Given the description of an element on the screen output the (x, y) to click on. 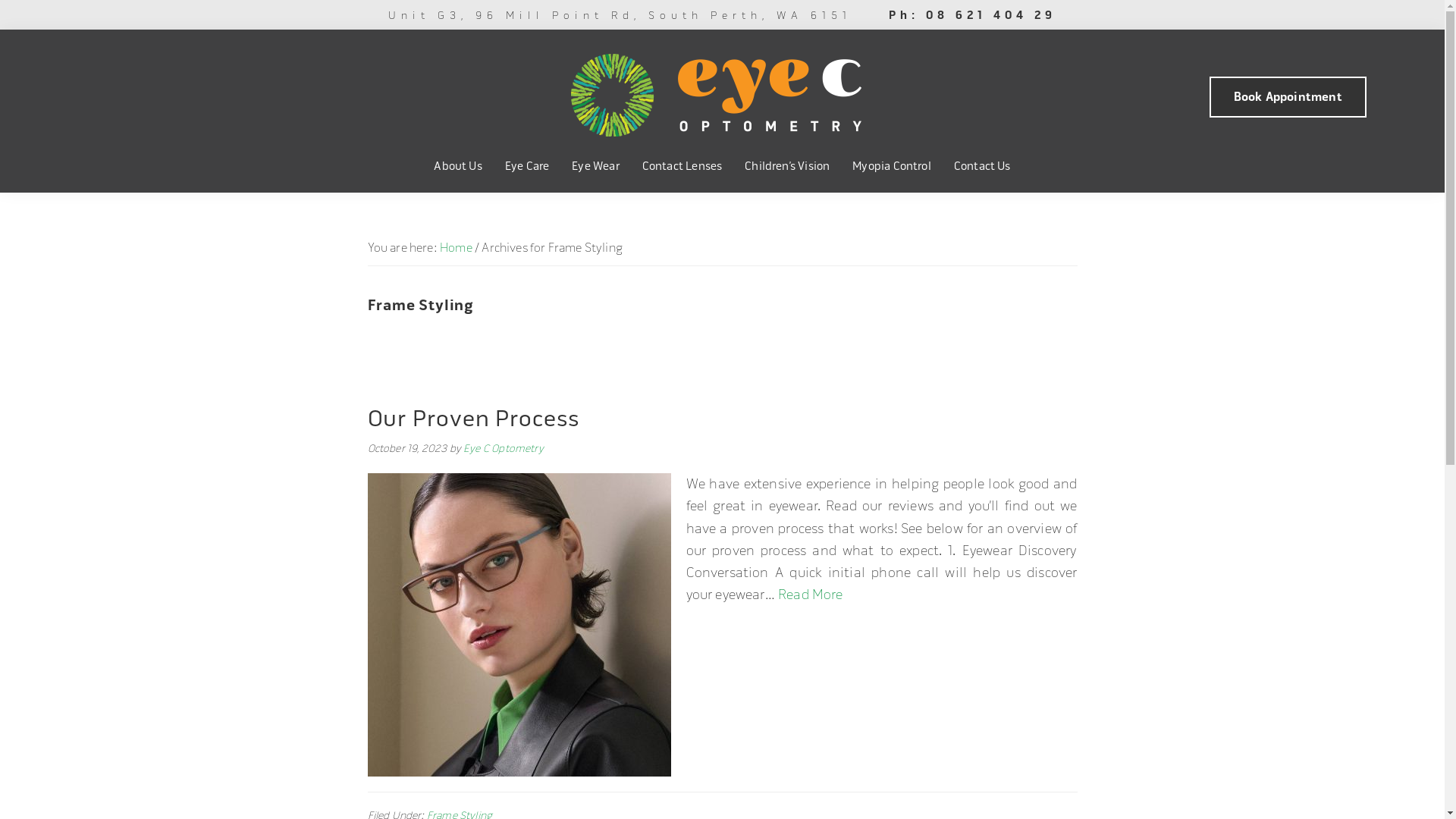
Eye C Optometry Element type: text (503, 448)
About Us Element type: text (457, 166)
Contact Us Element type: text (982, 166)
Myopia Control Element type: text (891, 166)
Book Appointment Element type: text (1288, 97)
Read More Element type: text (810, 594)
Skip to main content Element type: text (0, 0)
Contact Lenses Element type: text (682, 166)
Eye Care Element type: text (526, 166)
Eye Wear Element type: text (595, 166)
Our Proven Process Element type: text (472, 418)
Home Element type: text (455, 247)
Ph: 08 621 404 29 Element type: text (972, 15)
